Given the description of an element on the screen output the (x, y) to click on. 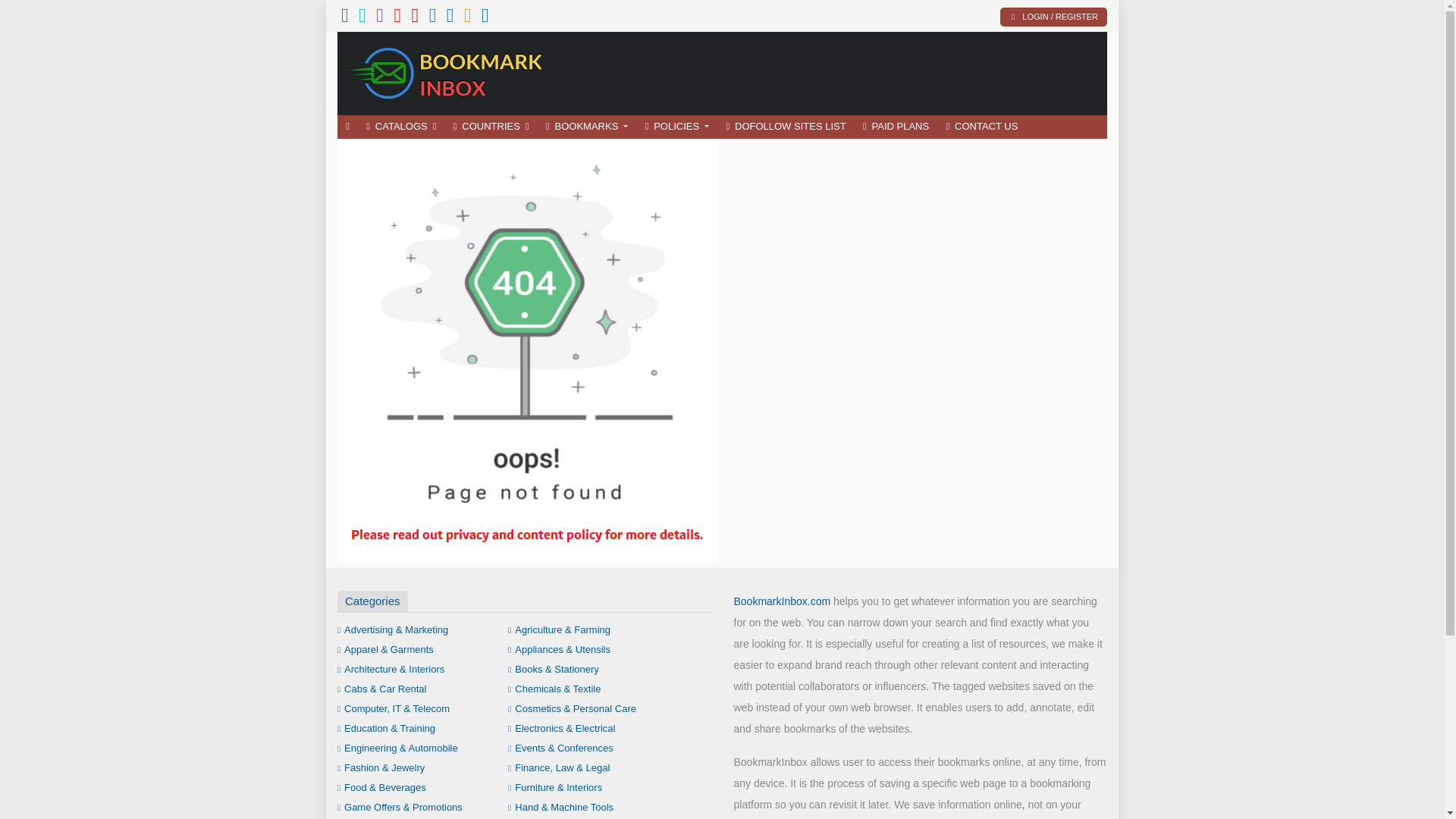
CATALOGS (401, 126)
Tag Your Business Website Using Advanced Social Platform (447, 71)
